Given the description of an element on the screen output the (x, y) to click on. 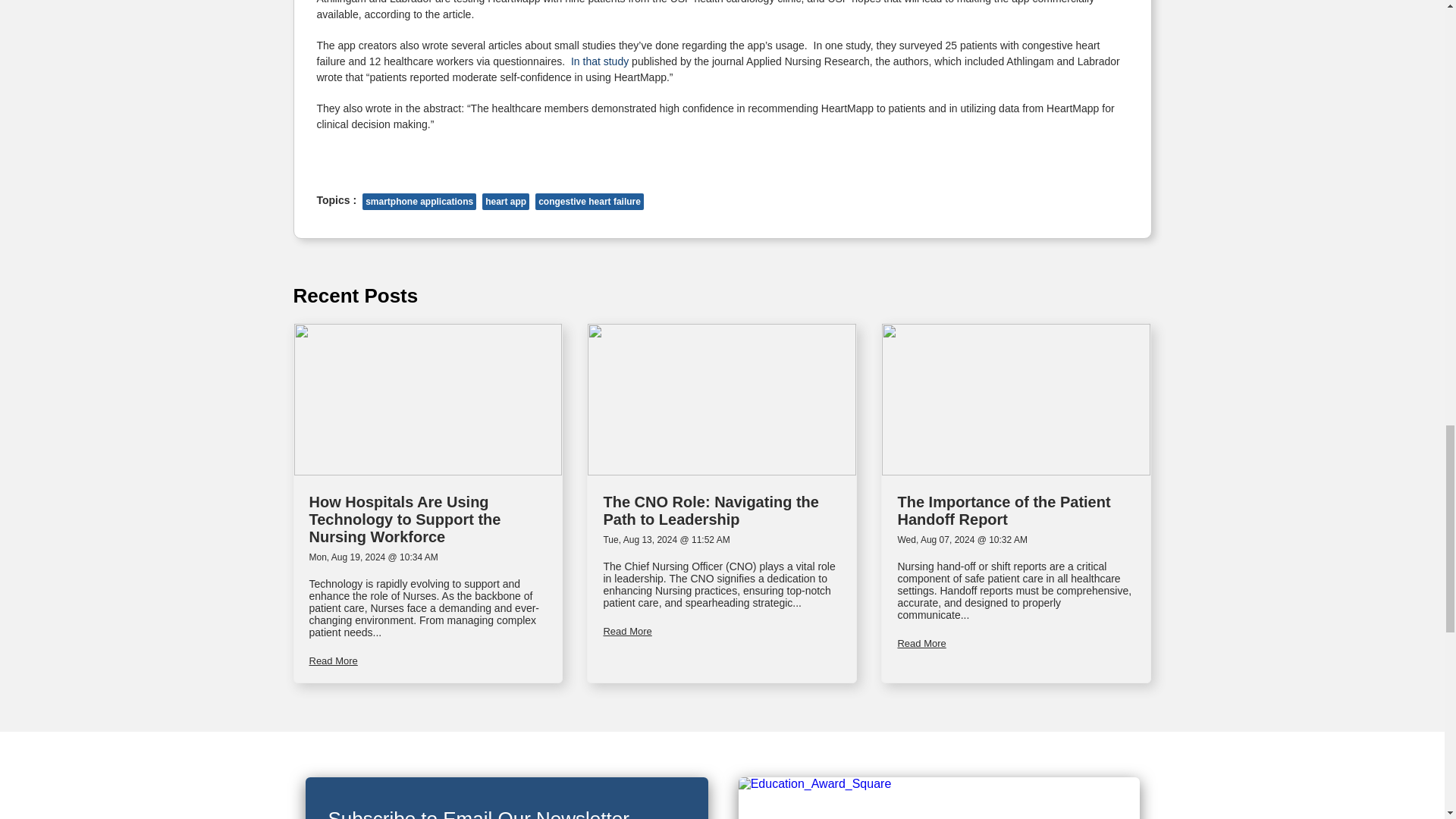
smartphone applications (419, 201)
congestive heart failure (589, 201)
heart app (505, 201)
In that study (599, 61)
